Given the description of an element on the screen output the (x, y) to click on. 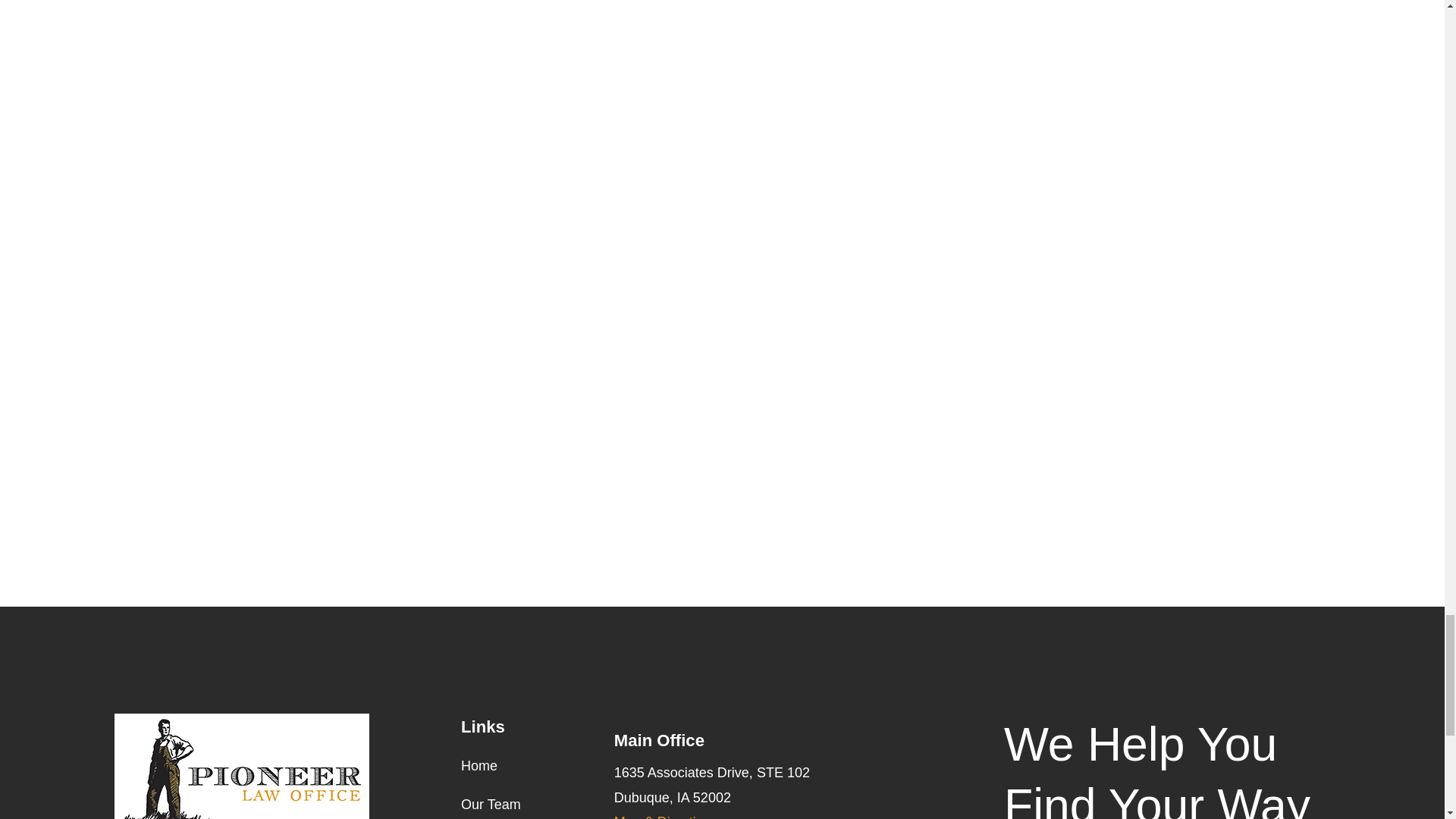
Home (242, 766)
